Given the description of an element on the screen output the (x, y) to click on. 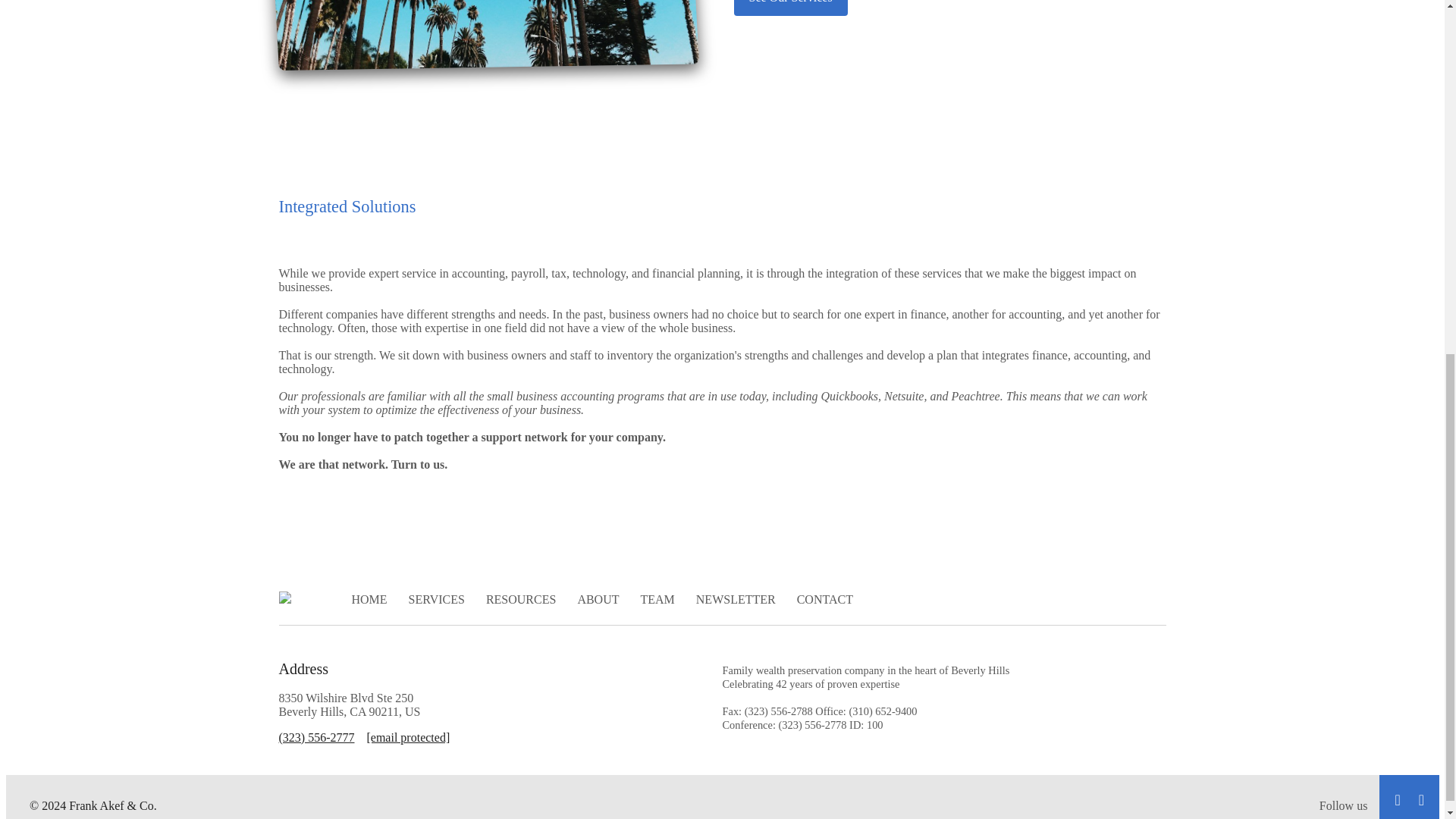
NEWSLETTER (735, 599)
SERVICES (436, 599)
TEAM (657, 599)
See Our Services (790, 7)
RESOURCES (521, 599)
ABOUT (597, 599)
CONTACT (824, 599)
HOME (369, 599)
